Given the description of an element on the screen output the (x, y) to click on. 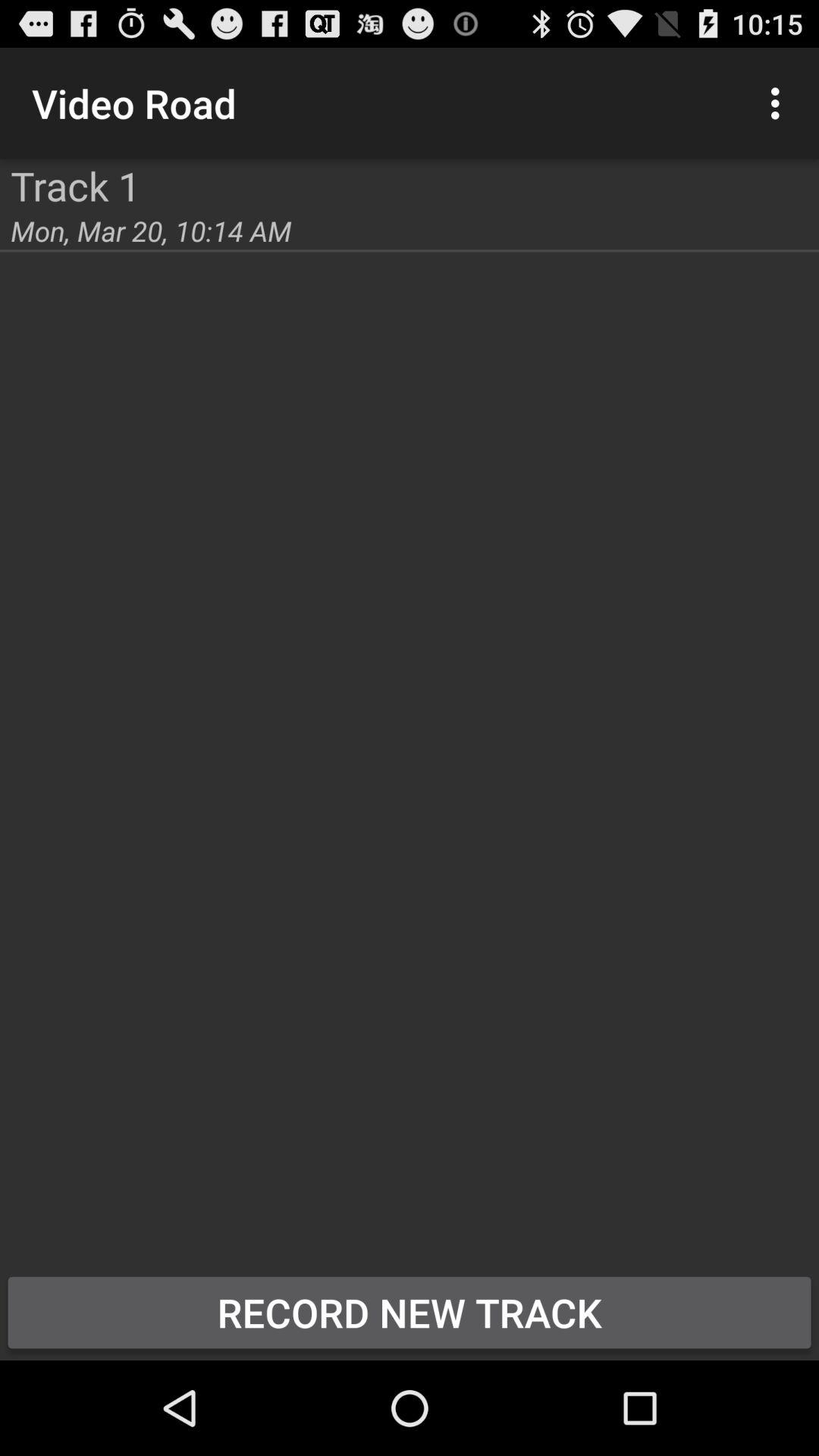
press icon next to the video road icon (779, 103)
